Given the description of an element on the screen output the (x, y) to click on. 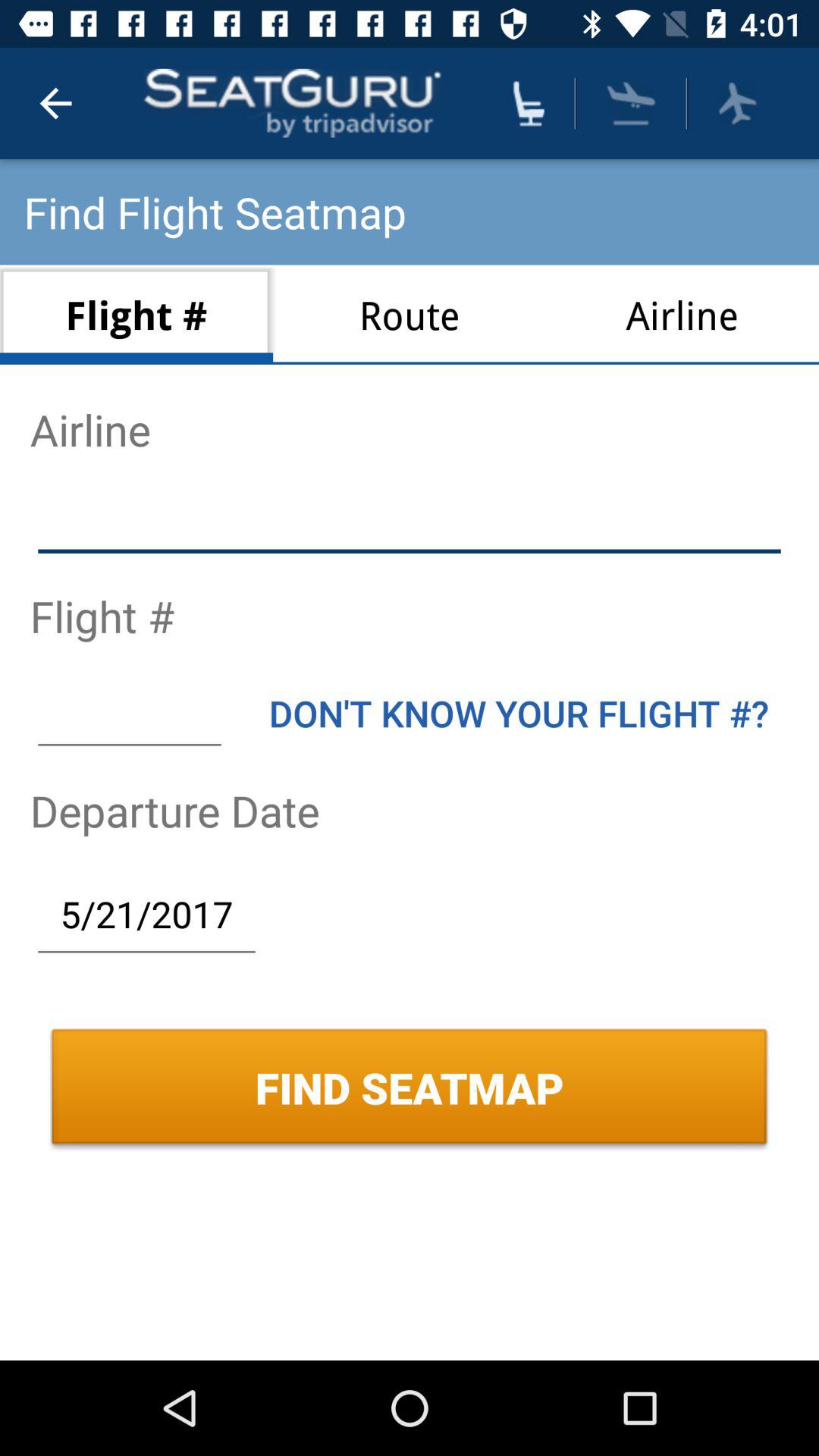
turn off the icon above departure date item (129, 712)
